Given the description of an element on the screen output the (x, y) to click on. 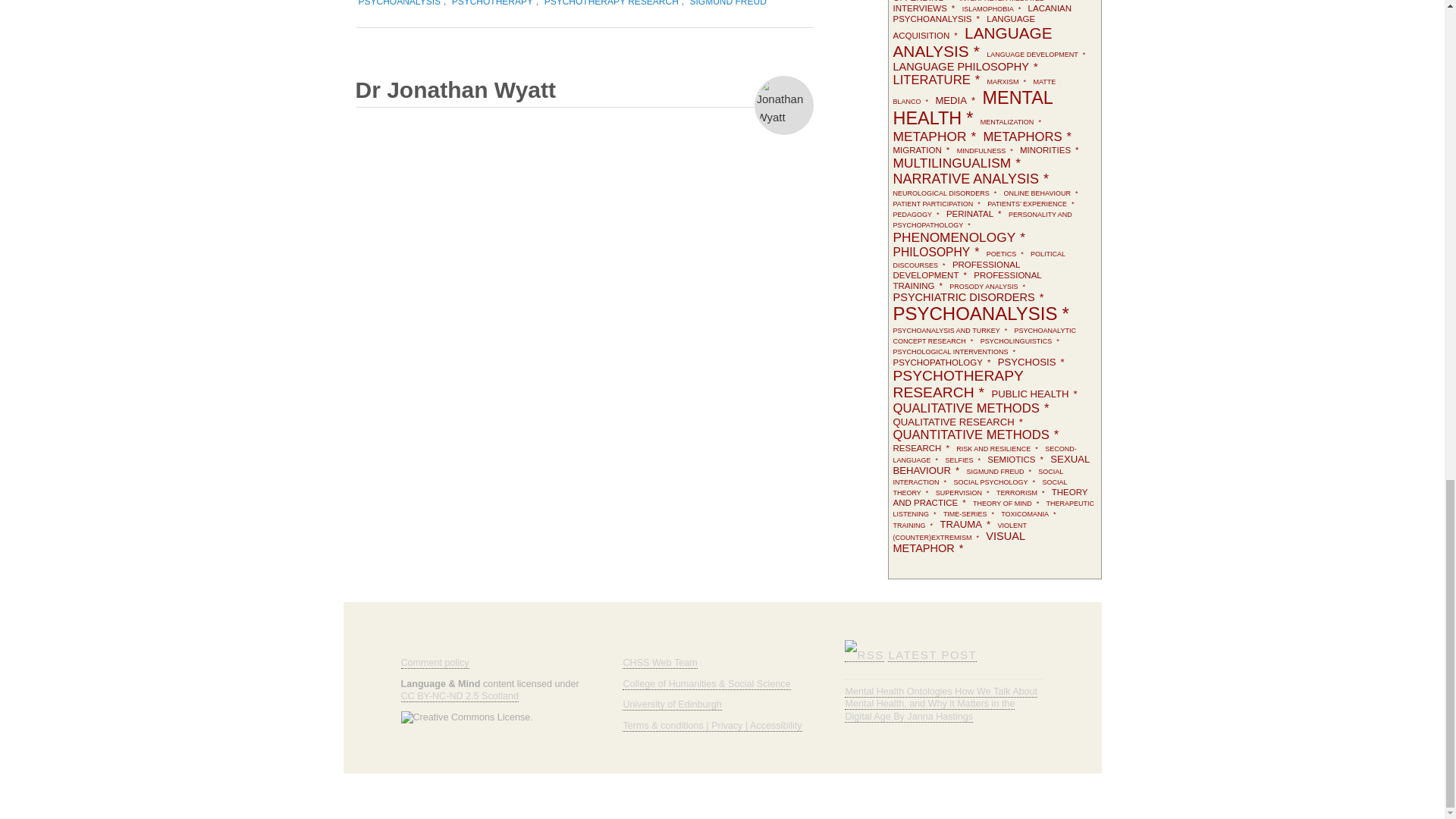
College website (706, 684)
Attribution-NonCommercial-NoDerivs 2.5 UK: Scotland (459, 696)
PSYCHOANALYSIS (398, 4)
